Given the description of an element on the screen output the (x, y) to click on. 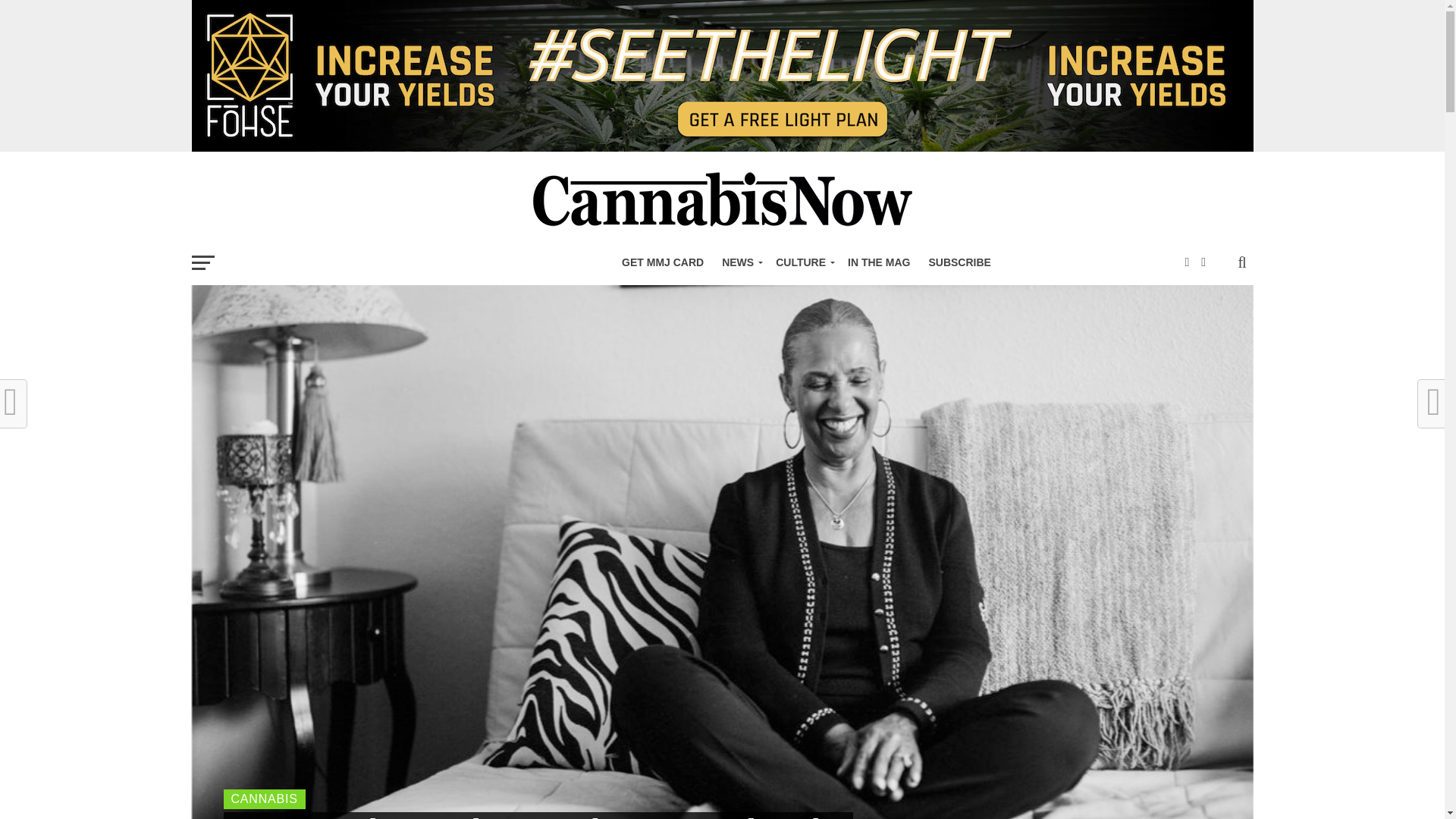
GET MMJ CARD (662, 262)
